Given the description of an element on the screen output the (x, y) to click on. 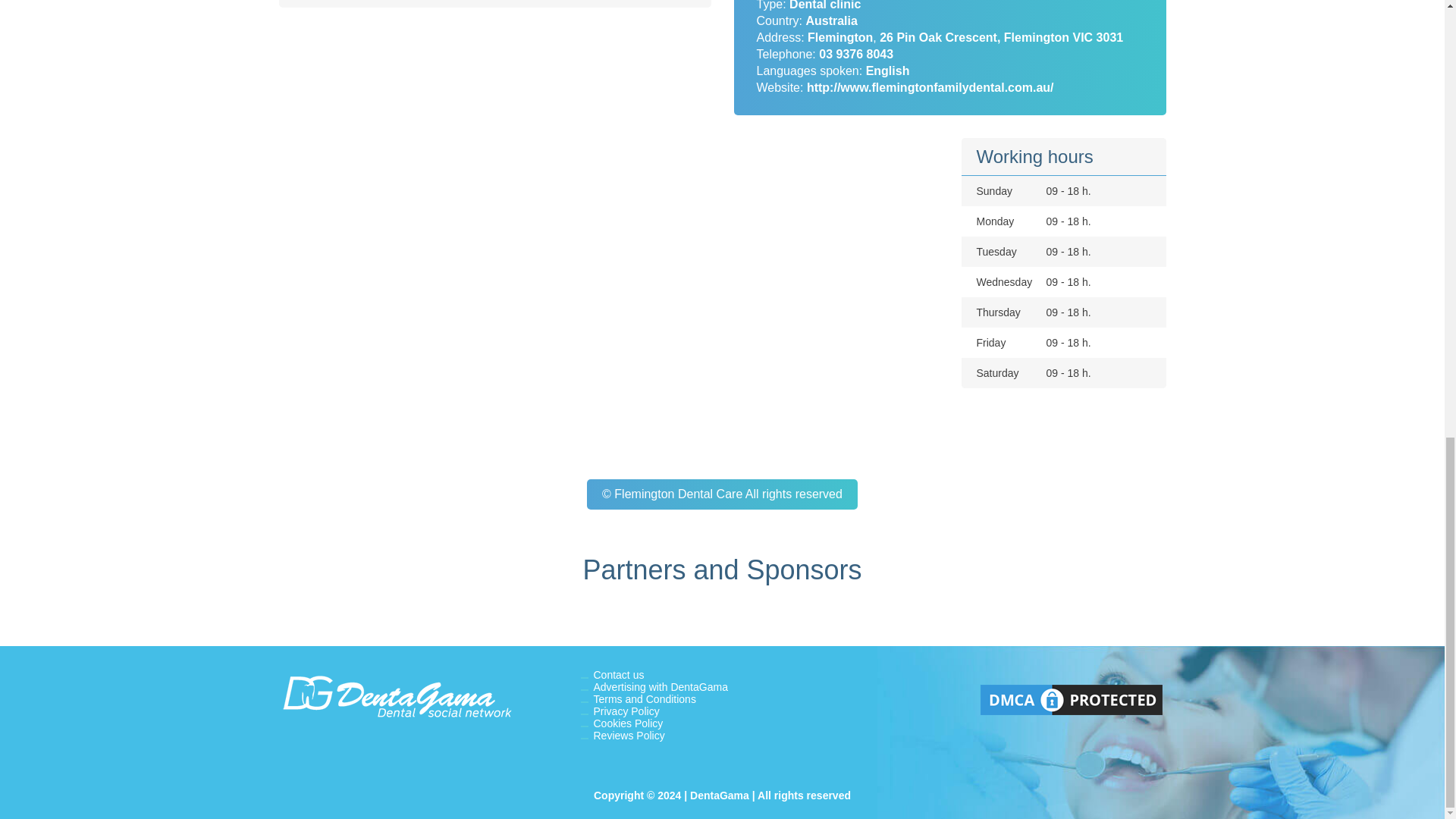
DentaGama (396, 699)
Advertising with DentaGama (659, 686)
Contact us (617, 674)
Dental clinic (824, 5)
Terms and Conditions (643, 698)
DMCA.com Protection Status (1071, 715)
